Given the description of an element on the screen output the (x, y) to click on. 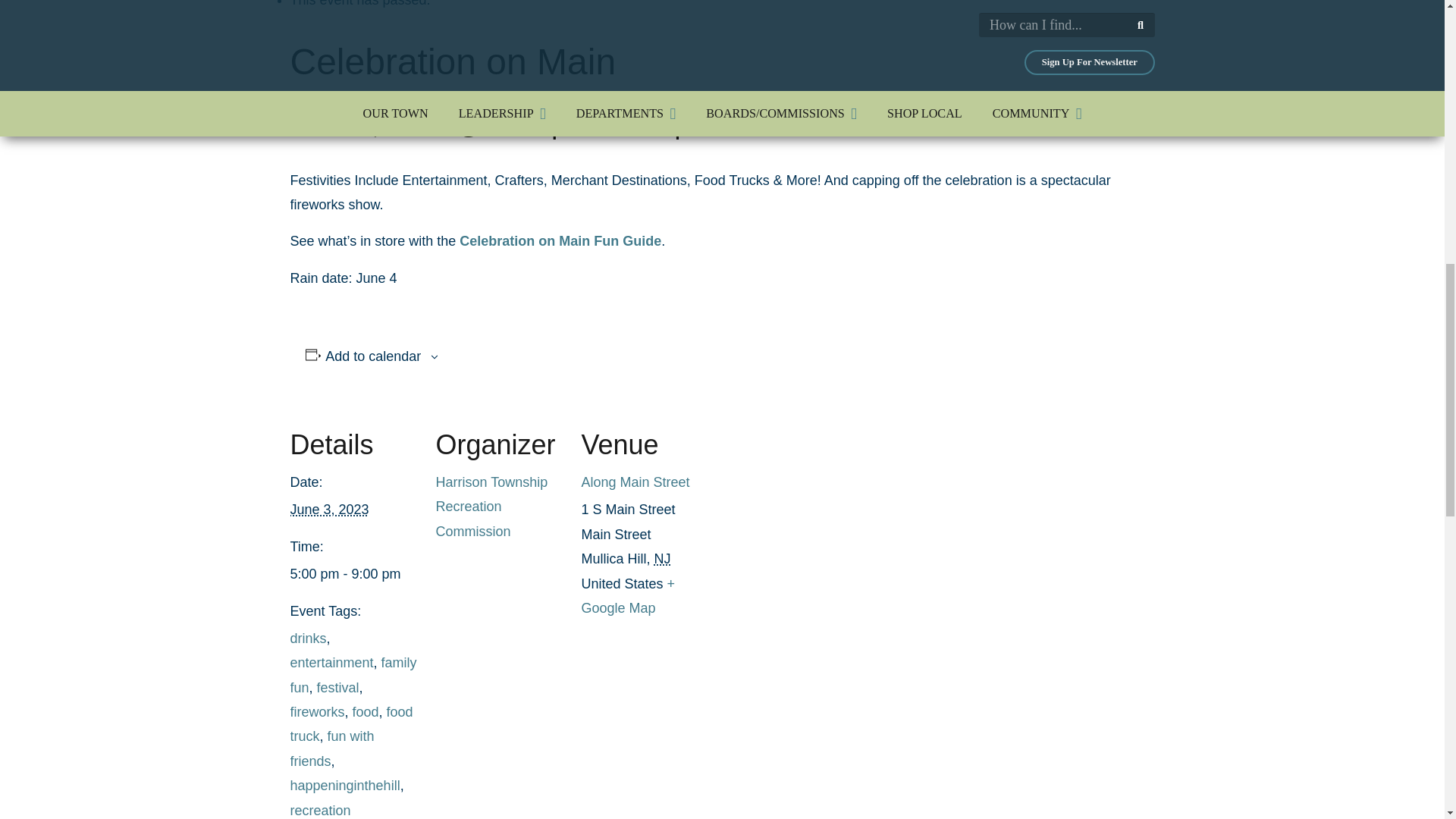
New Jersey (662, 558)
Harrison Township Recreation Commission (491, 506)
Back to top (1403, 34)
2023-06-03 (328, 509)
Click to view a Google Map (627, 595)
2023-06-03 (352, 573)
